Given the description of an element on the screen output the (x, y) to click on. 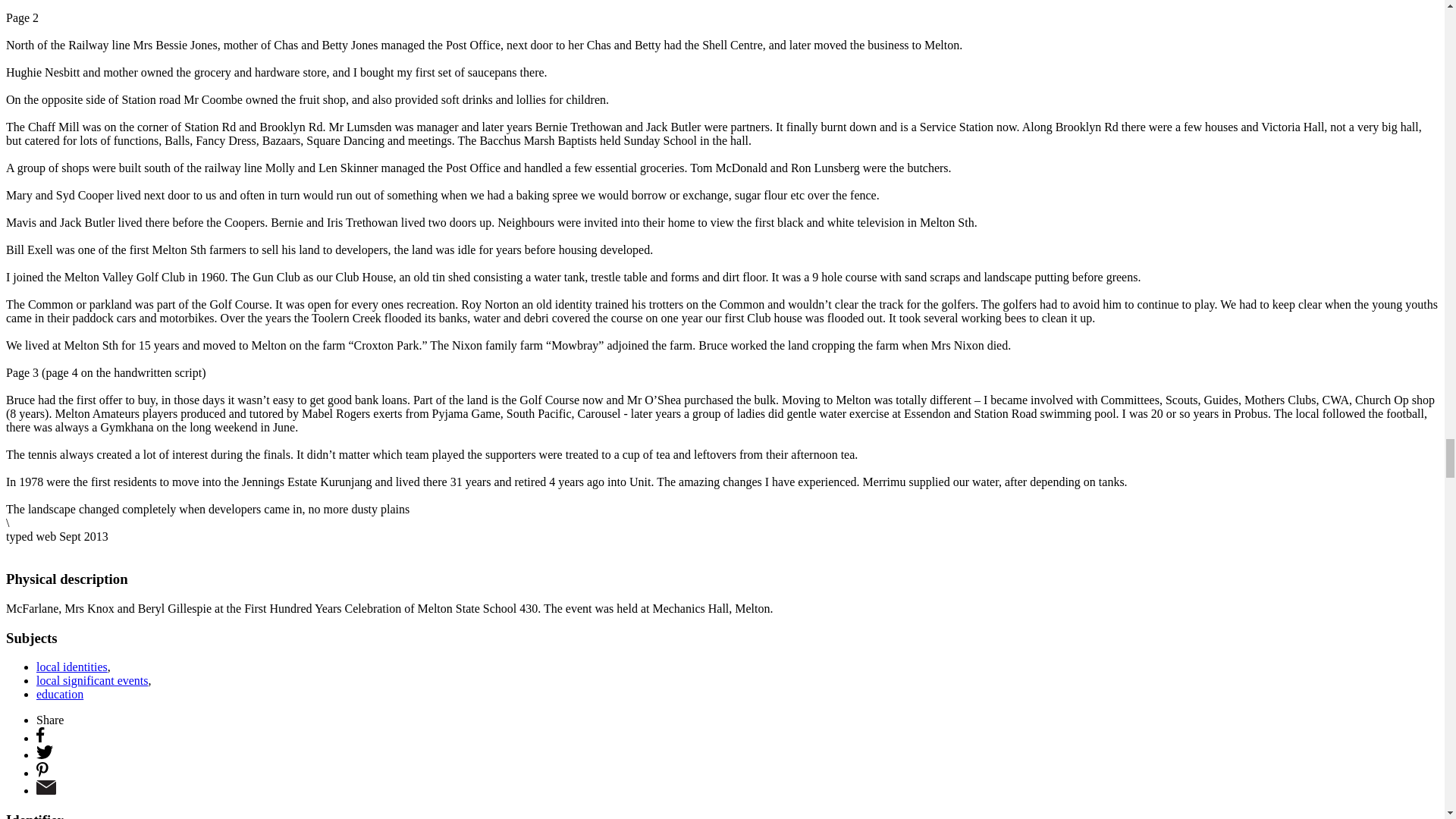
local identities (71, 666)
local significant events (92, 680)
education (59, 694)
